Given the description of an element on the screen output the (x, y) to click on. 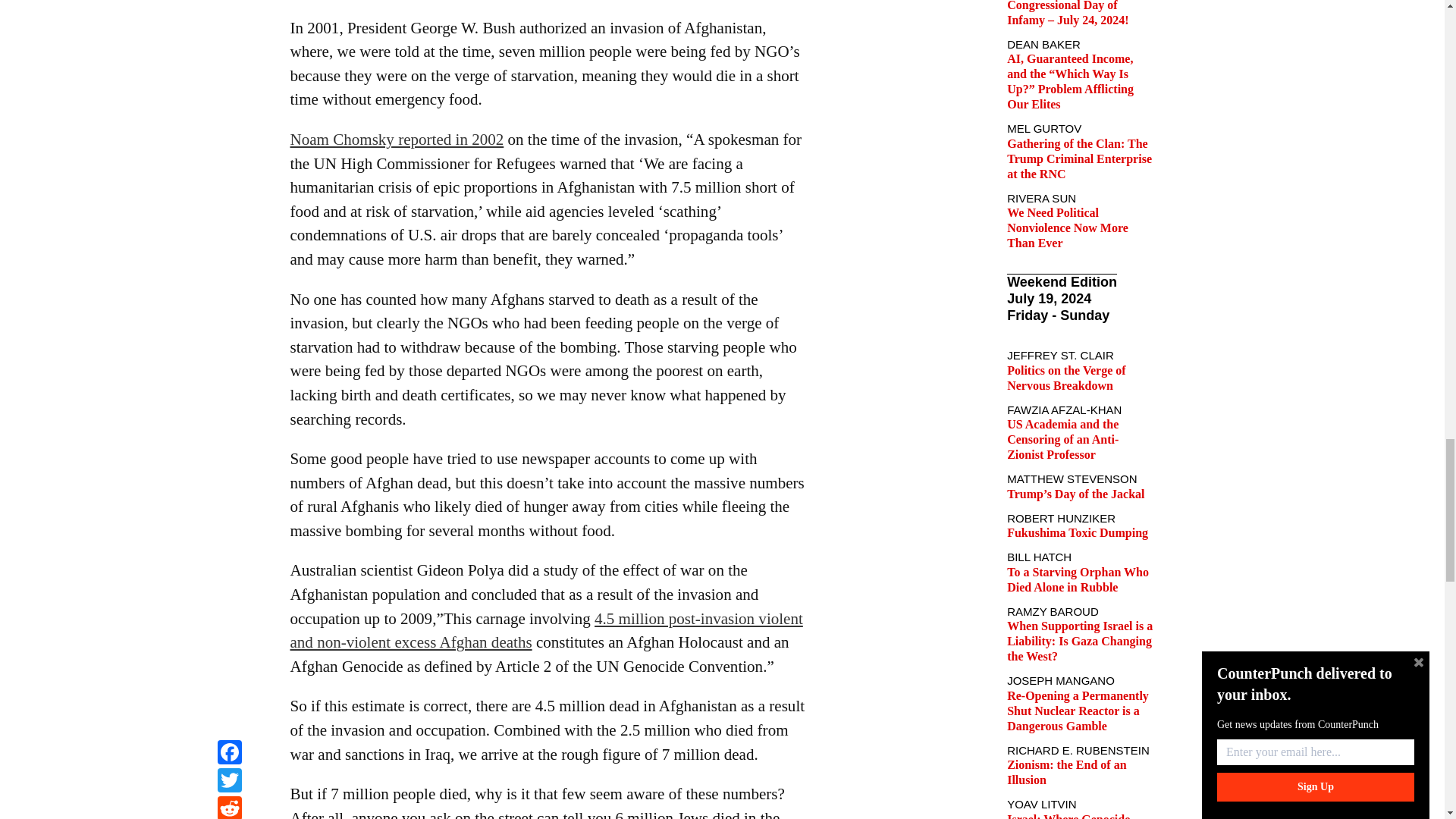
Noam Chomsky reported in 2002 (396, 139)
